Given the description of an element on the screen output the (x, y) to click on. 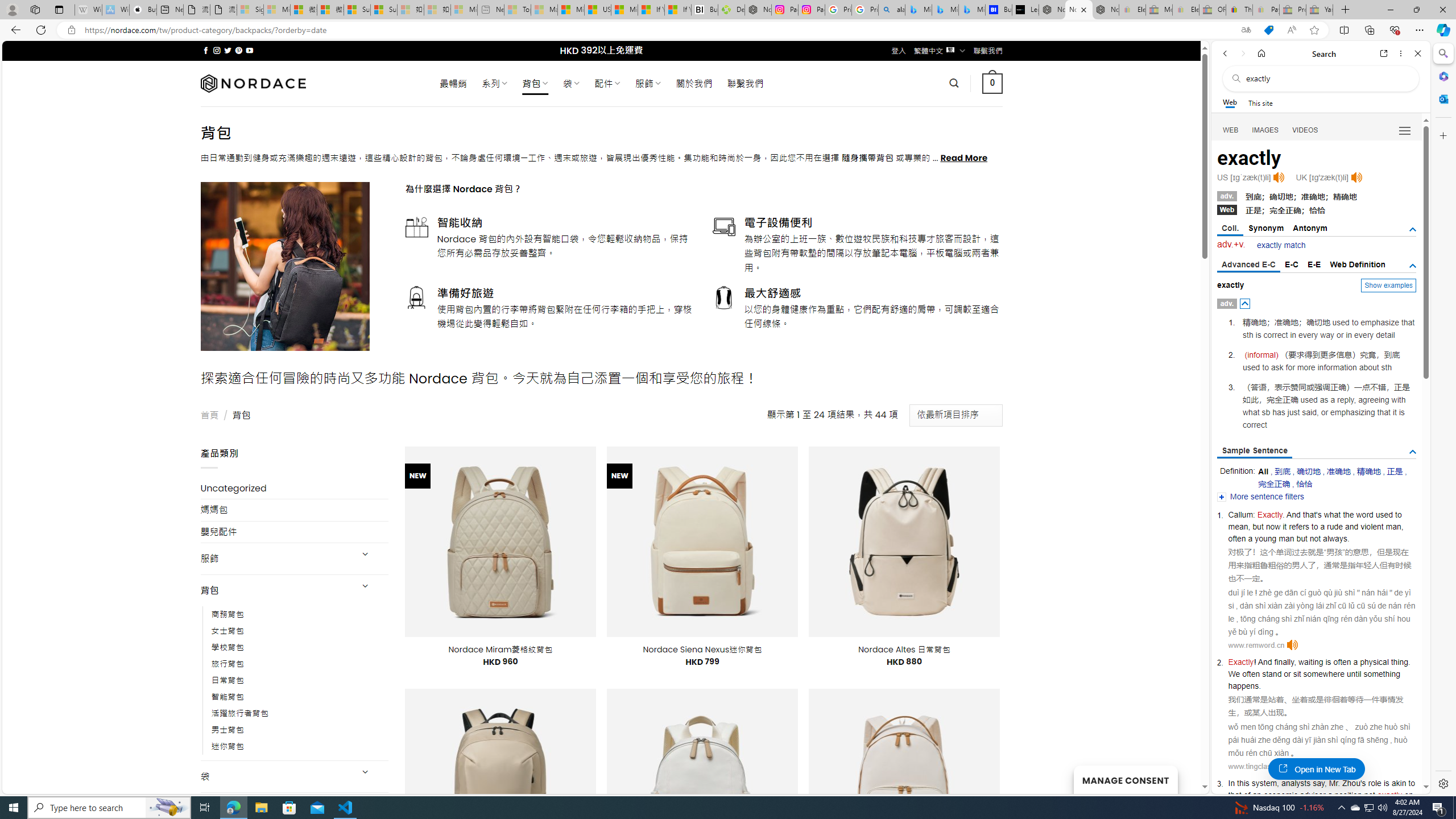
. (1258, 685)
's (1362, 782)
